Given the description of an element on the screen output the (x, y) to click on. 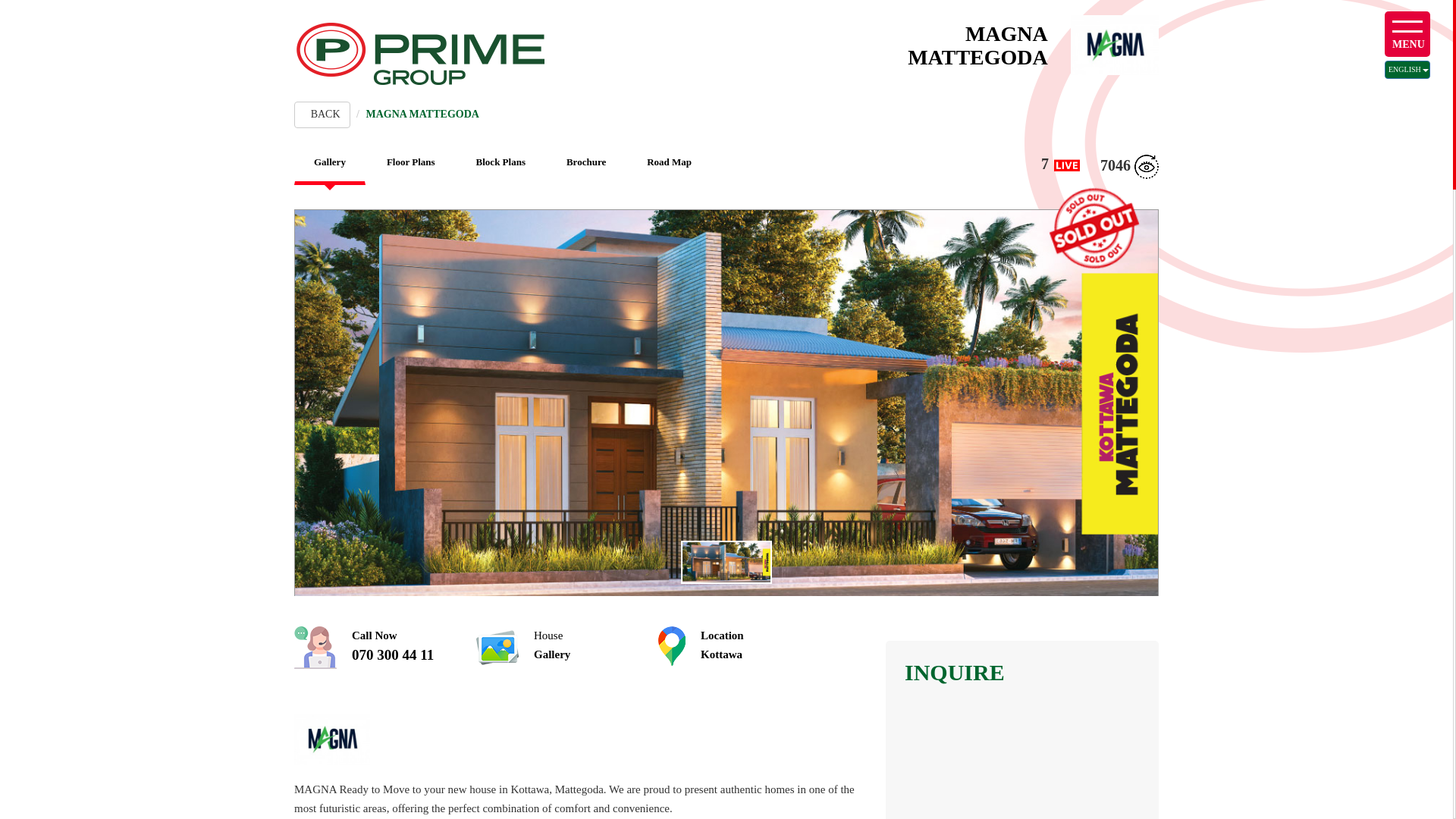
Brochure (586, 162)
Road Map (669, 162)
BACK (741, 645)
ENGLISH (322, 114)
BACK (1406, 69)
Gallery (322, 113)
Block Plans (329, 164)
Floor Plans (500, 162)
